Given the description of an element on the screen output the (x, y) to click on. 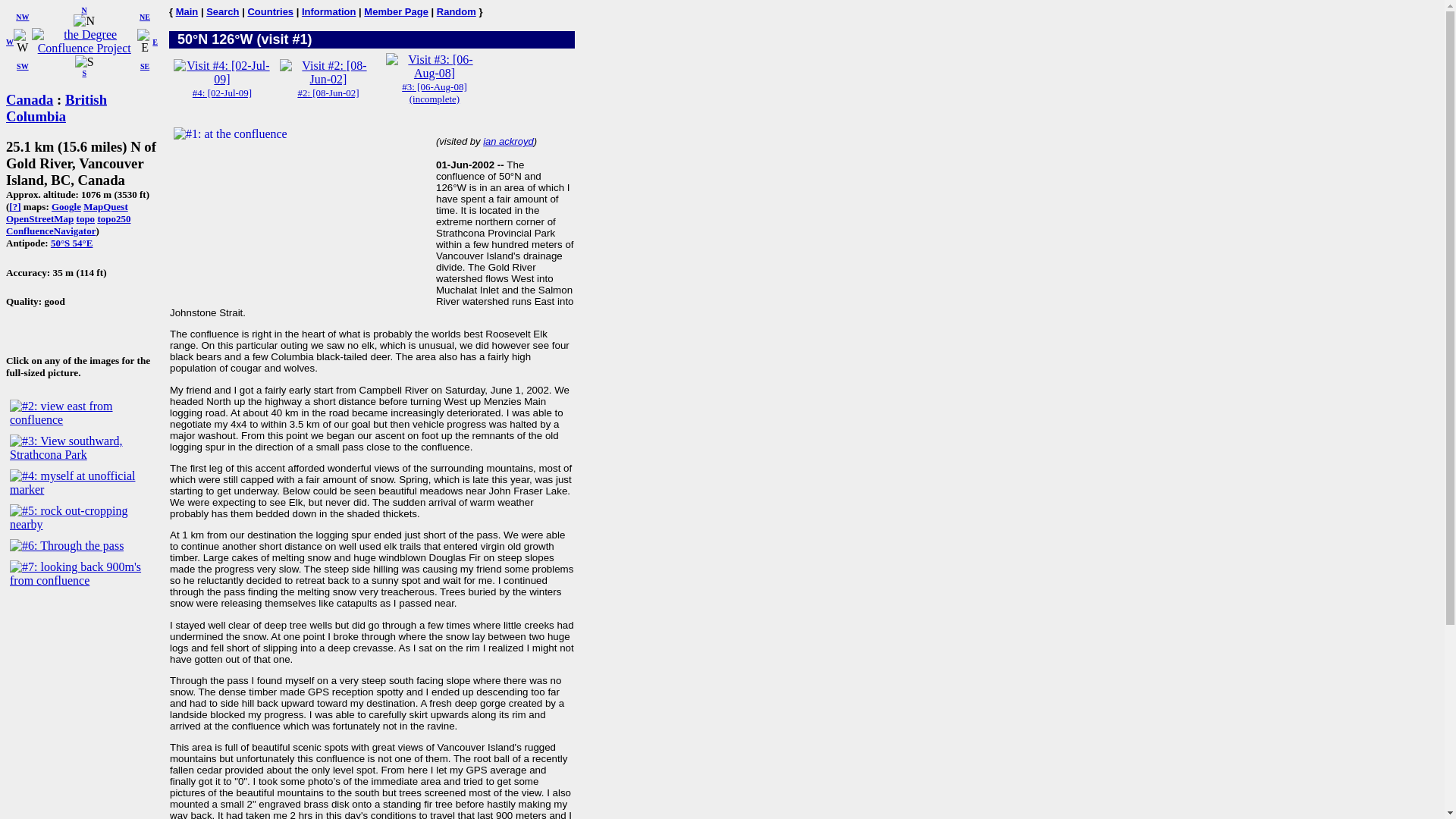
W (9, 41)
OpenStreetMap (39, 218)
Member Page (396, 11)
N (84, 20)
topo250 (114, 218)
Countries (270, 11)
Search (222, 11)
topo (86, 218)
ian ackroyd (507, 141)
Google (65, 206)
Main (187, 11)
NE (144, 17)
NW (22, 17)
Canada (28, 99)
SE (144, 66)
